Given the description of an element on the screen output the (x, y) to click on. 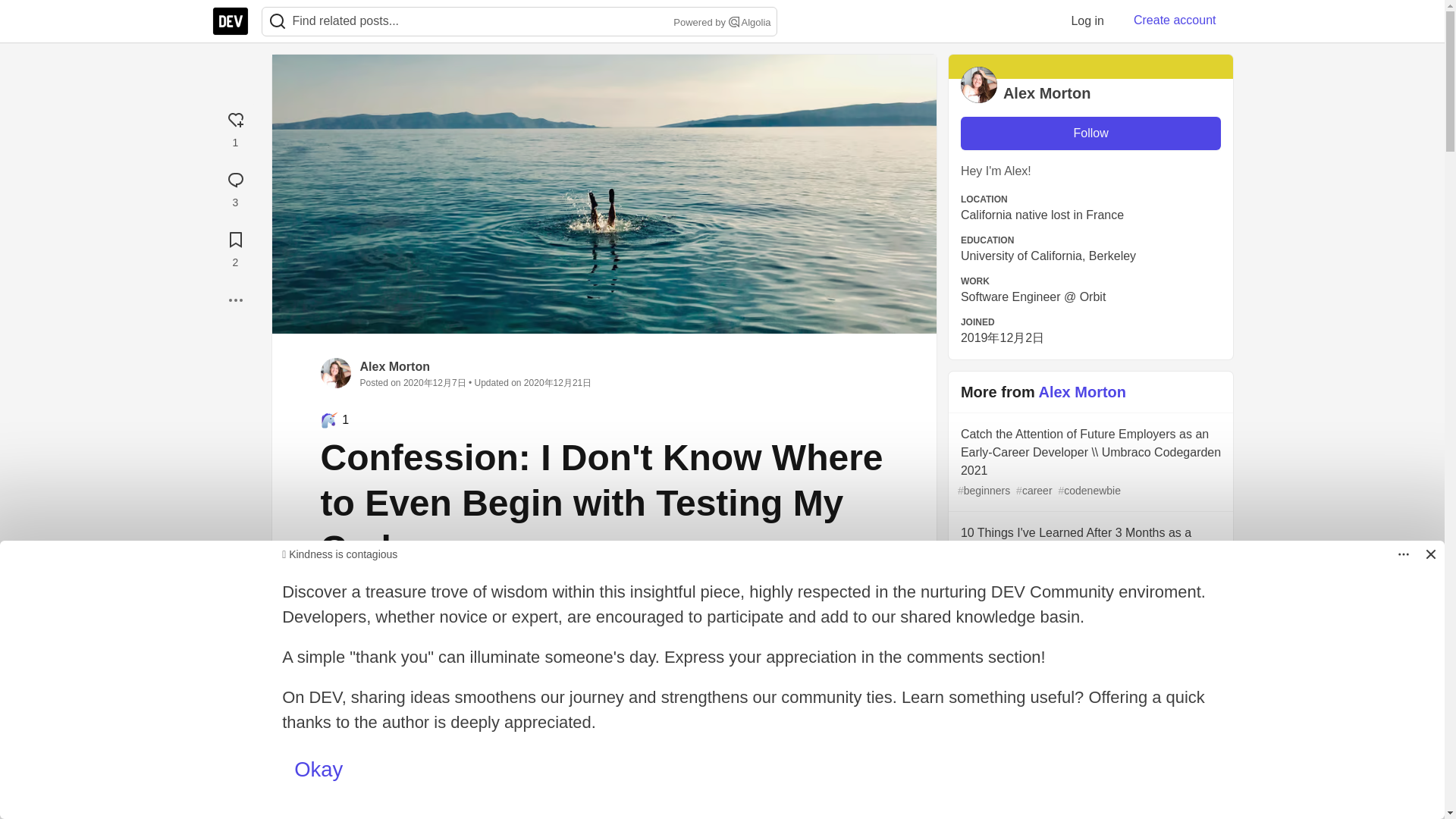
Log in (1087, 20)
Alex Morton (394, 366)
2 (235, 247)
Powered by Algolia (720, 22)
Create account (1174, 20)
More... (234, 300)
my blog (748, 637)
3 (235, 187)
More... (234, 299)
